Given the description of an element on the screen output the (x, y) to click on. 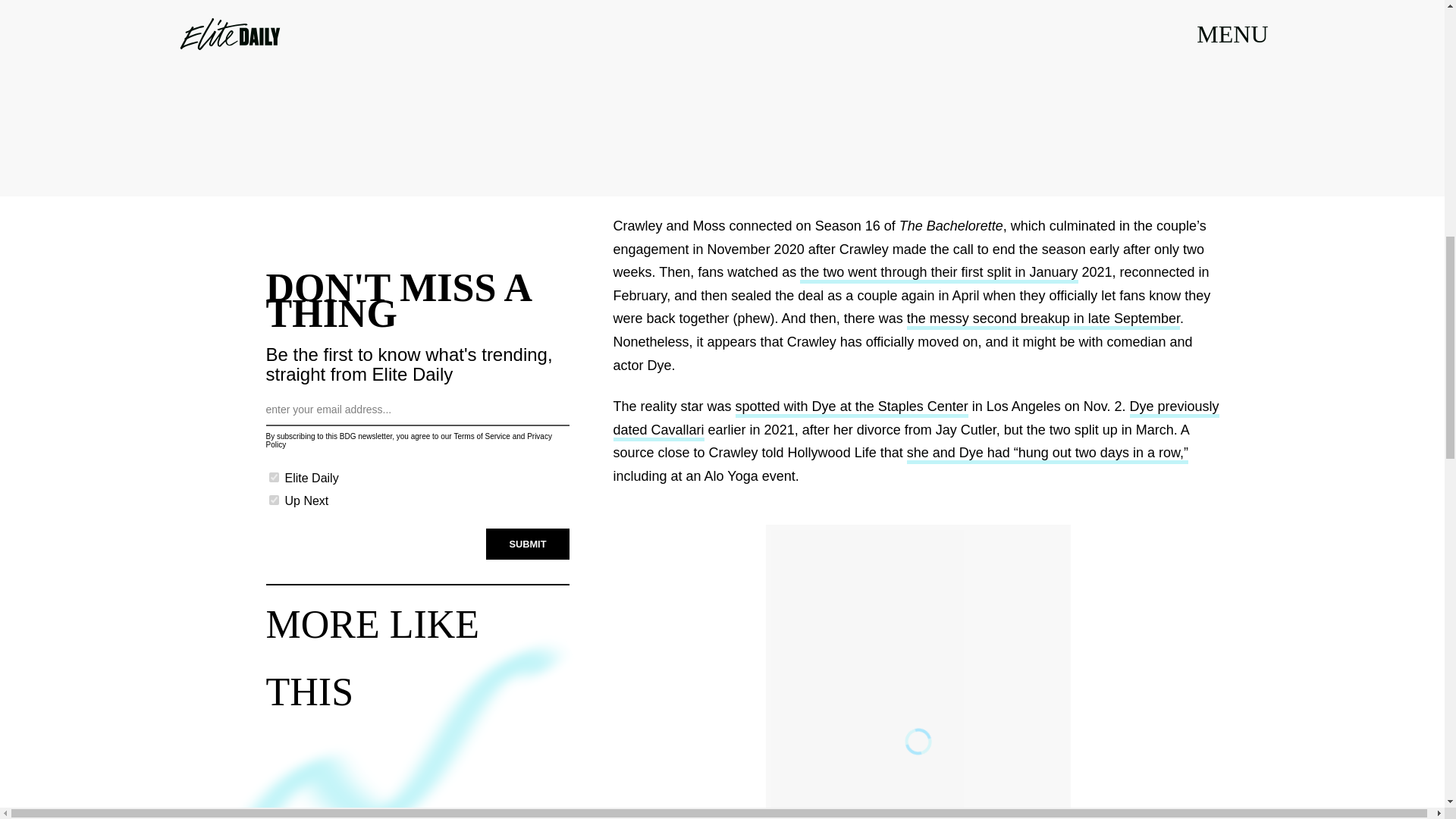
Dye previously dated Cavallari (915, 419)
Privacy Policy (407, 440)
the two went through their first split in January (938, 273)
spotted with Dye at the Staples Center (851, 407)
Terms of Service (480, 436)
SUBMIT (527, 544)
the messy second breakup in late September (1043, 320)
